Given the description of an element on the screen output the (x, y) to click on. 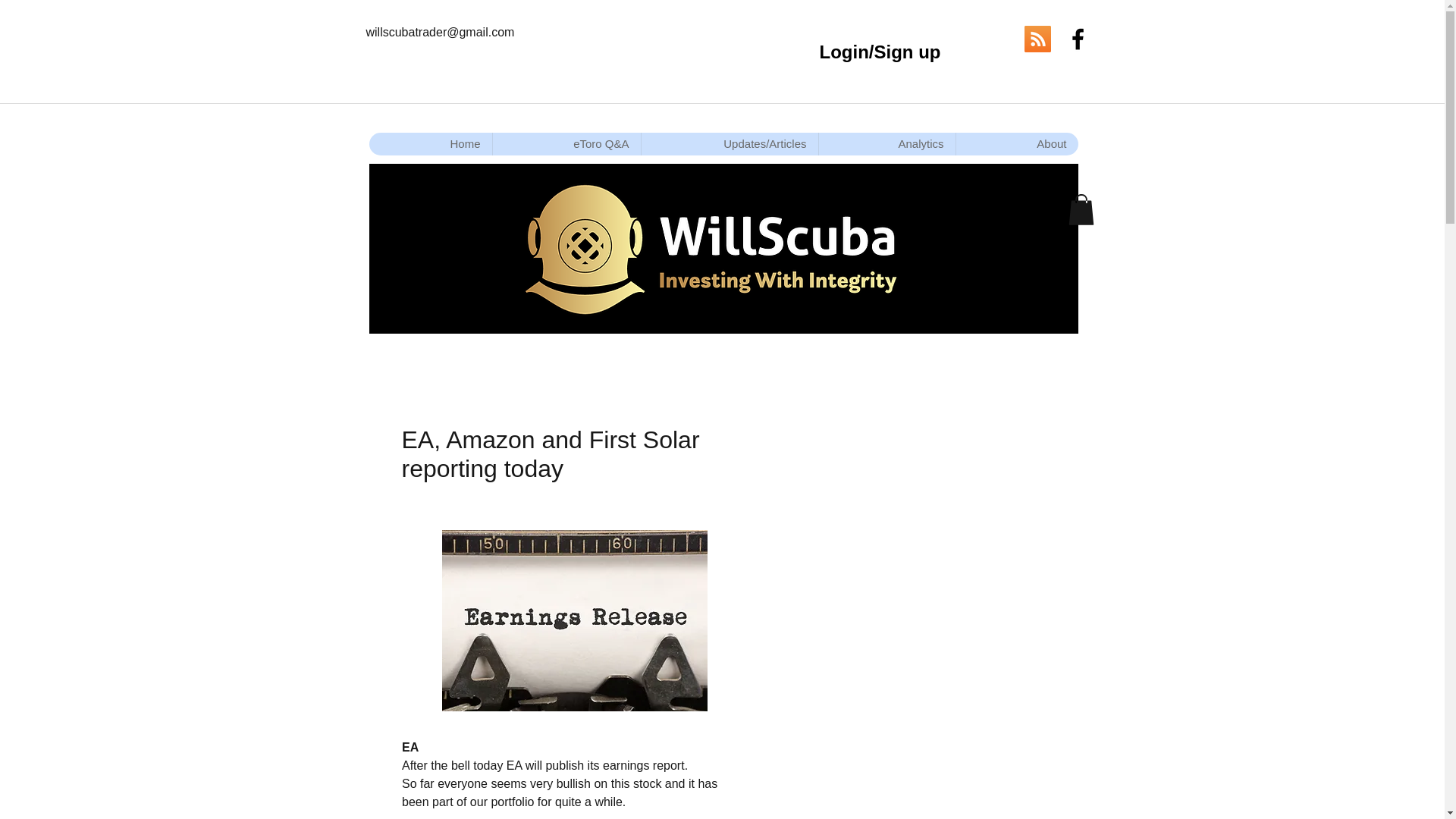
Home (430, 143)
Analytics (885, 143)
Twitter Follow (988, 39)
RSS Feed (1036, 39)
About (1016, 143)
